Given the description of an element on the screen output the (x, y) to click on. 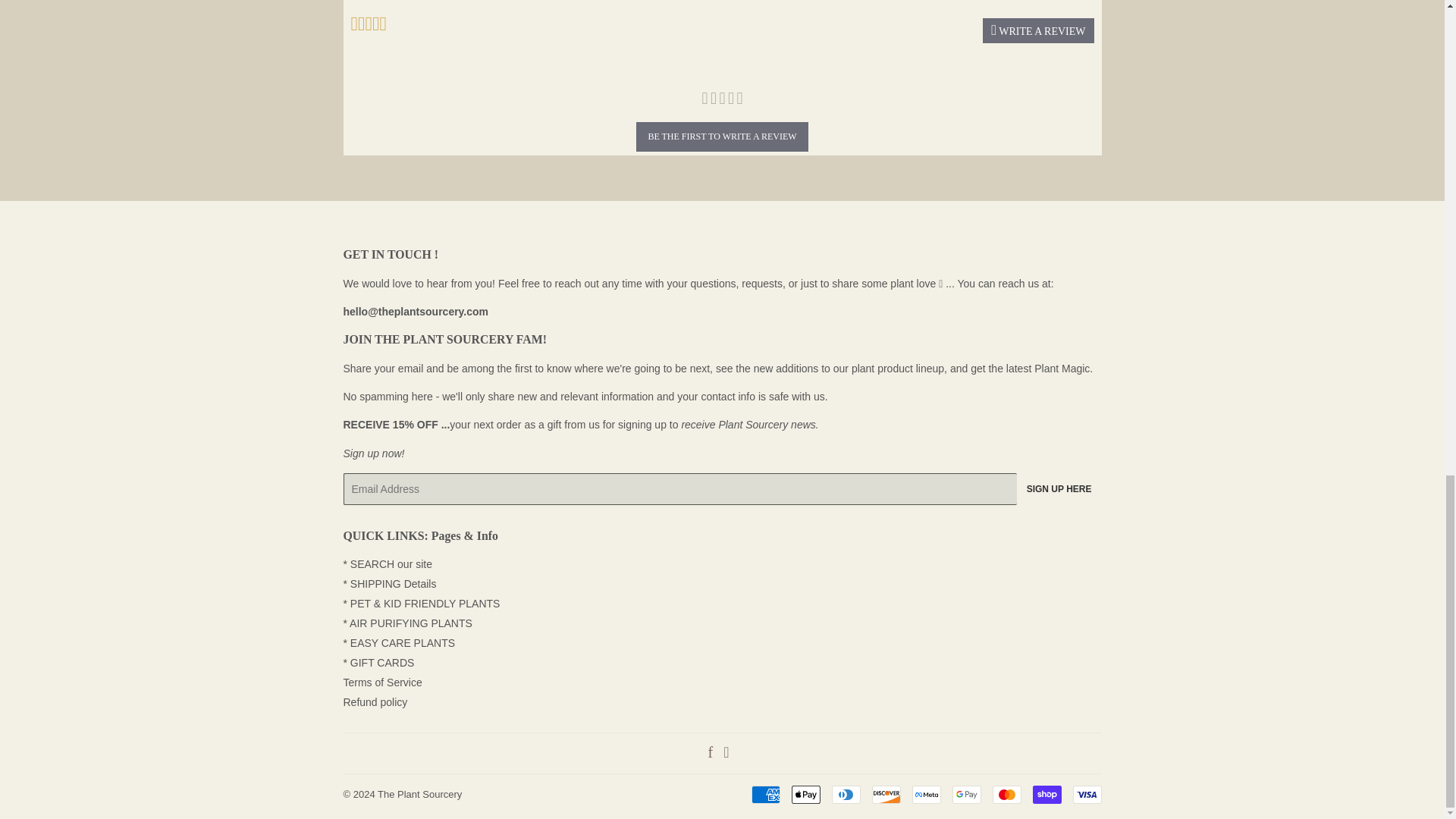
Meta Pay (925, 794)
The Plant Sourcery on Instagram (726, 753)
Visa (1085, 794)
Shop Pay (1046, 794)
Google Pay (966, 794)
Discover (886, 794)
Diners Club (845, 794)
The Plant Sourcery on Facebook (710, 753)
Apple Pay (806, 794)
Mastercard (1005, 794)
American Express (764, 794)
